Given the description of an element on the screen output the (x, y) to click on. 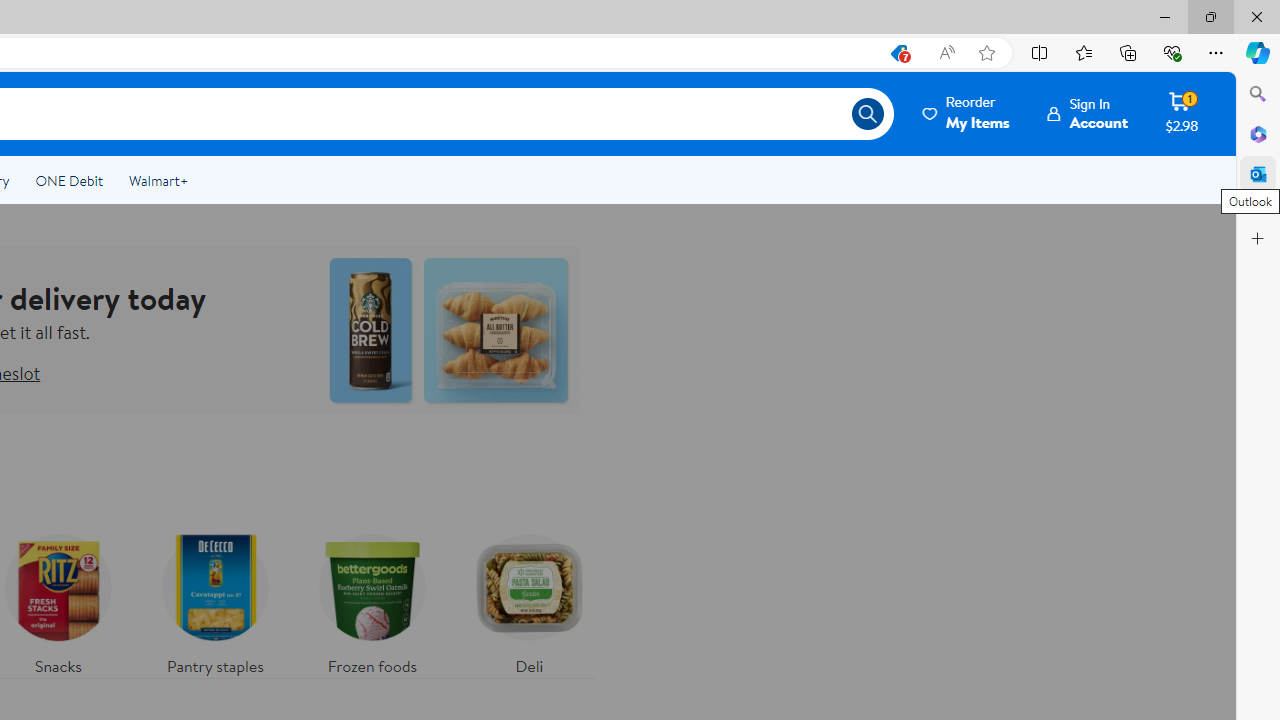
Cart contains 1 item Total Amount $2.98 (1182, 113)
ONE Debit (68, 180)
